Given the description of an element on the screen output the (x, y) to click on. 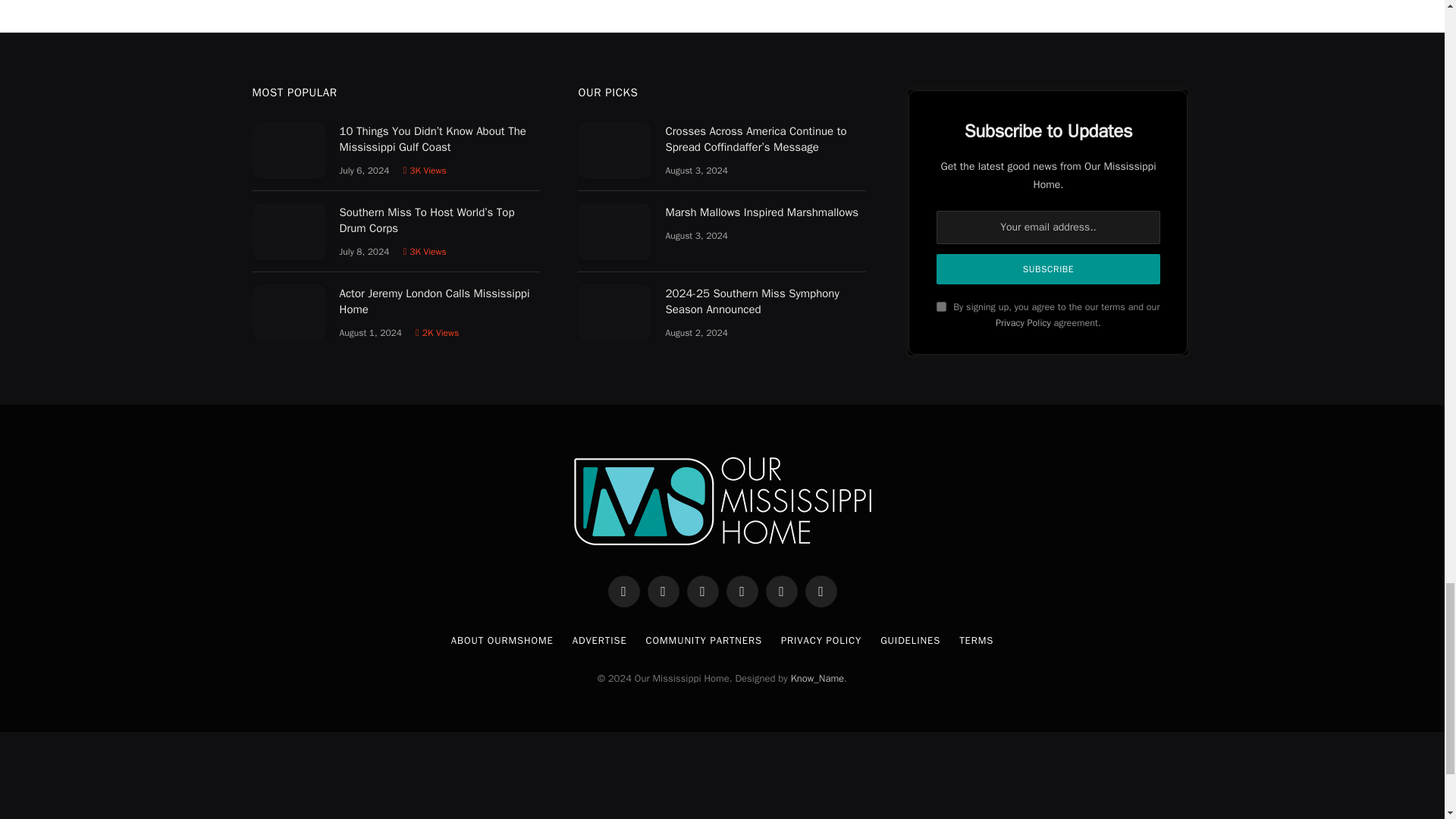
Subscribe (1047, 268)
on (941, 307)
